Given the description of an element on the screen output the (x, y) to click on. 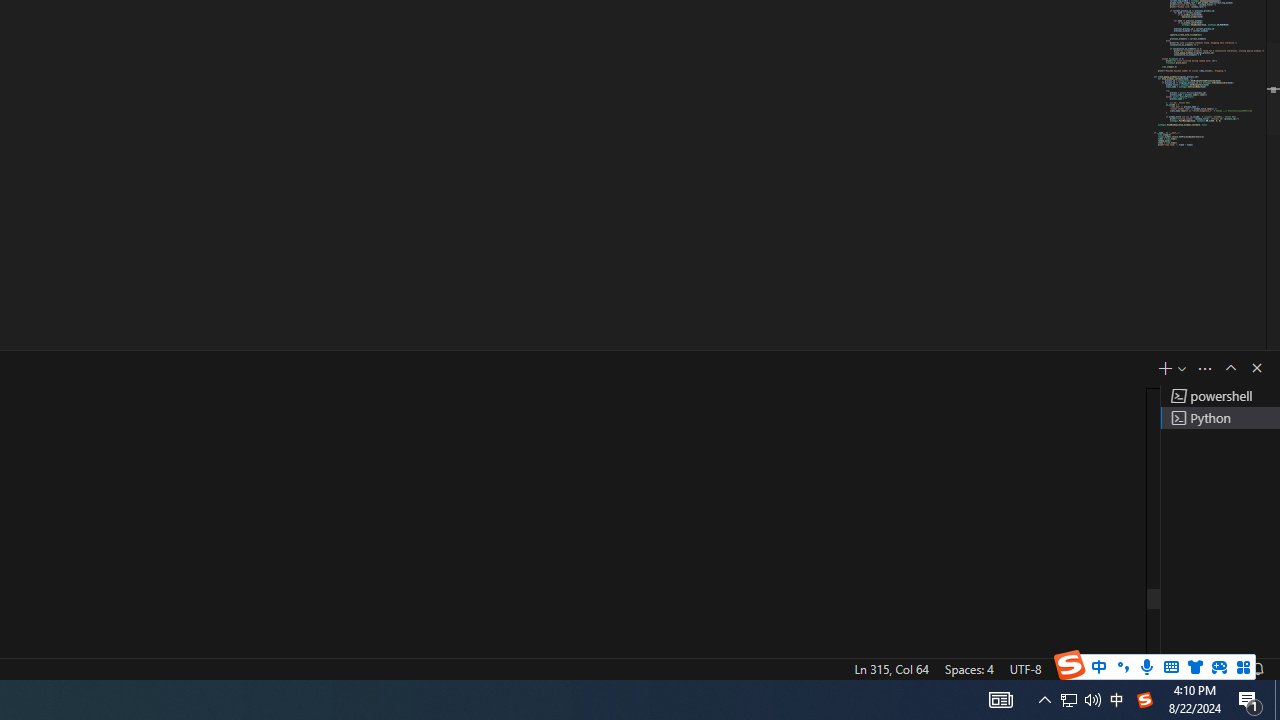
Web Layout (984, 640)
Book Title (1130, 140)
Read Mode (864, 640)
Poe (201, 687)
Focus  (786, 640)
Options... (1203, 590)
Zoom Out (1067, 640)
Intense Quote (1130, 54)
